Given the description of an element on the screen output the (x, y) to click on. 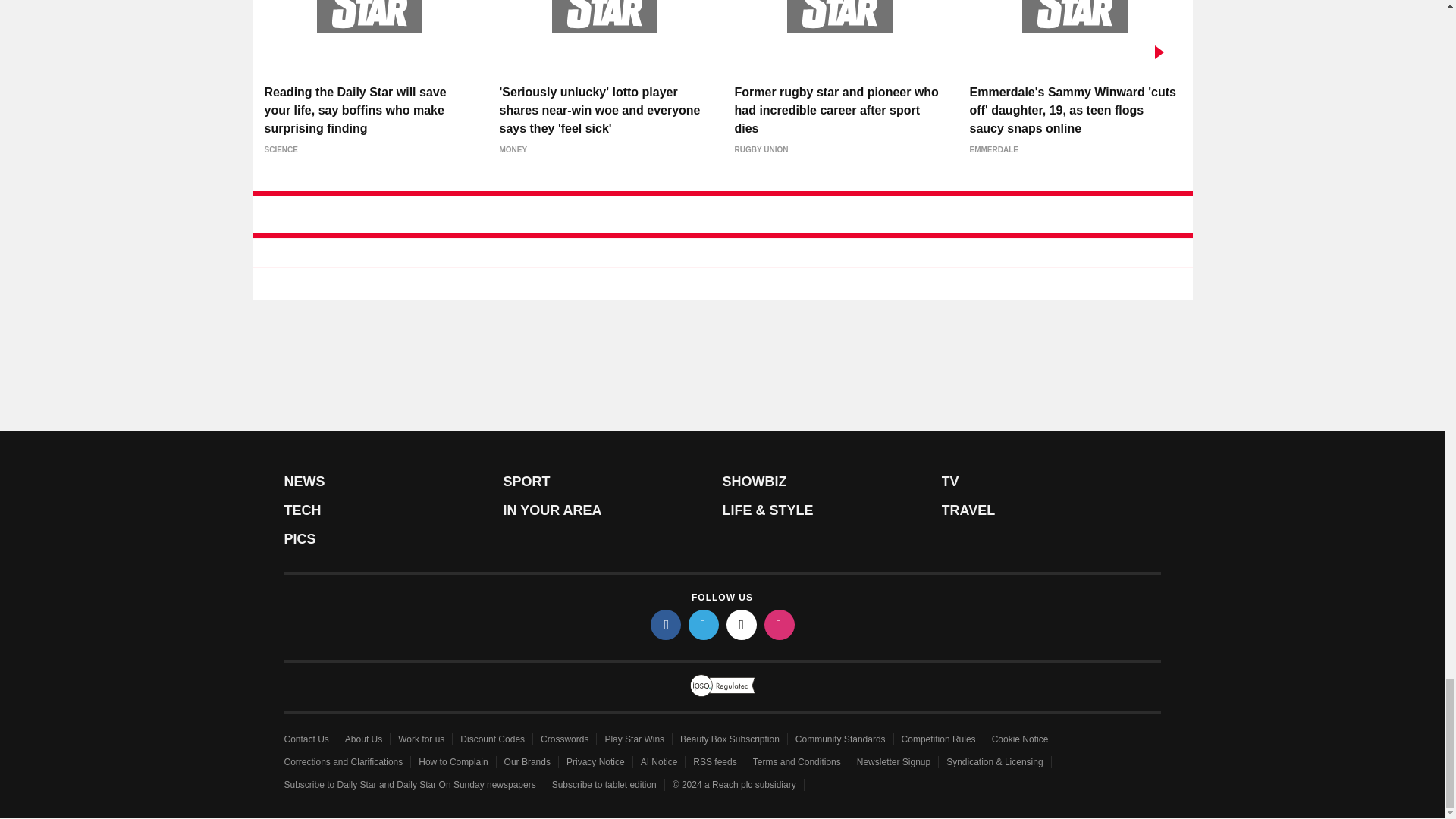
tiktok (741, 624)
facebook (665, 624)
twitter (703, 624)
instagram (779, 624)
